Given the description of an element on the screen output the (x, y) to click on. 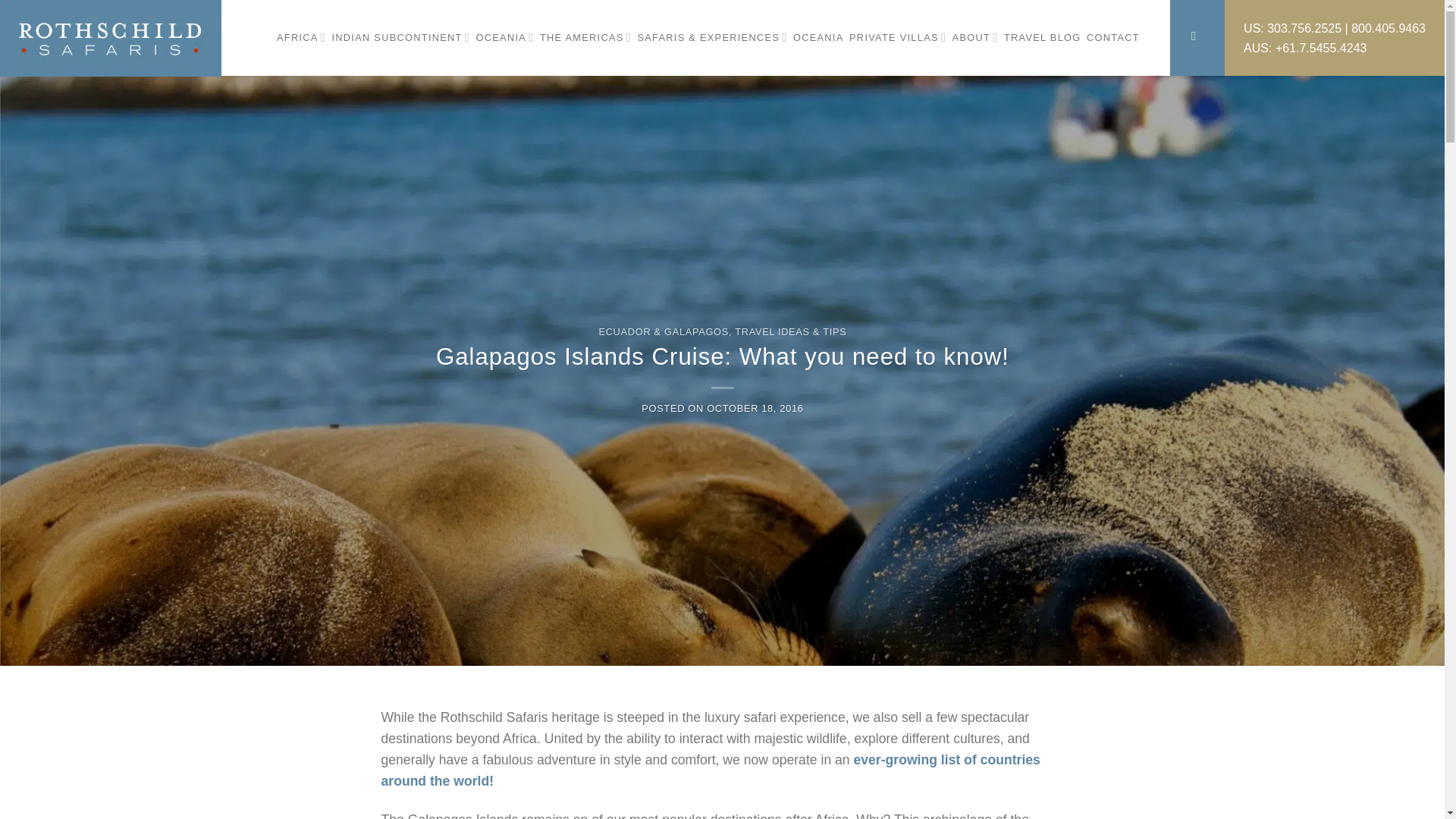
THE AMERICAS (585, 37)
Rothschild Safaris (112, 38)
AFRICA (301, 37)
INDIAN SUBCONTINENT (400, 37)
OCEANIA (505, 37)
